Given the description of an element on the screen output the (x, y) to click on. 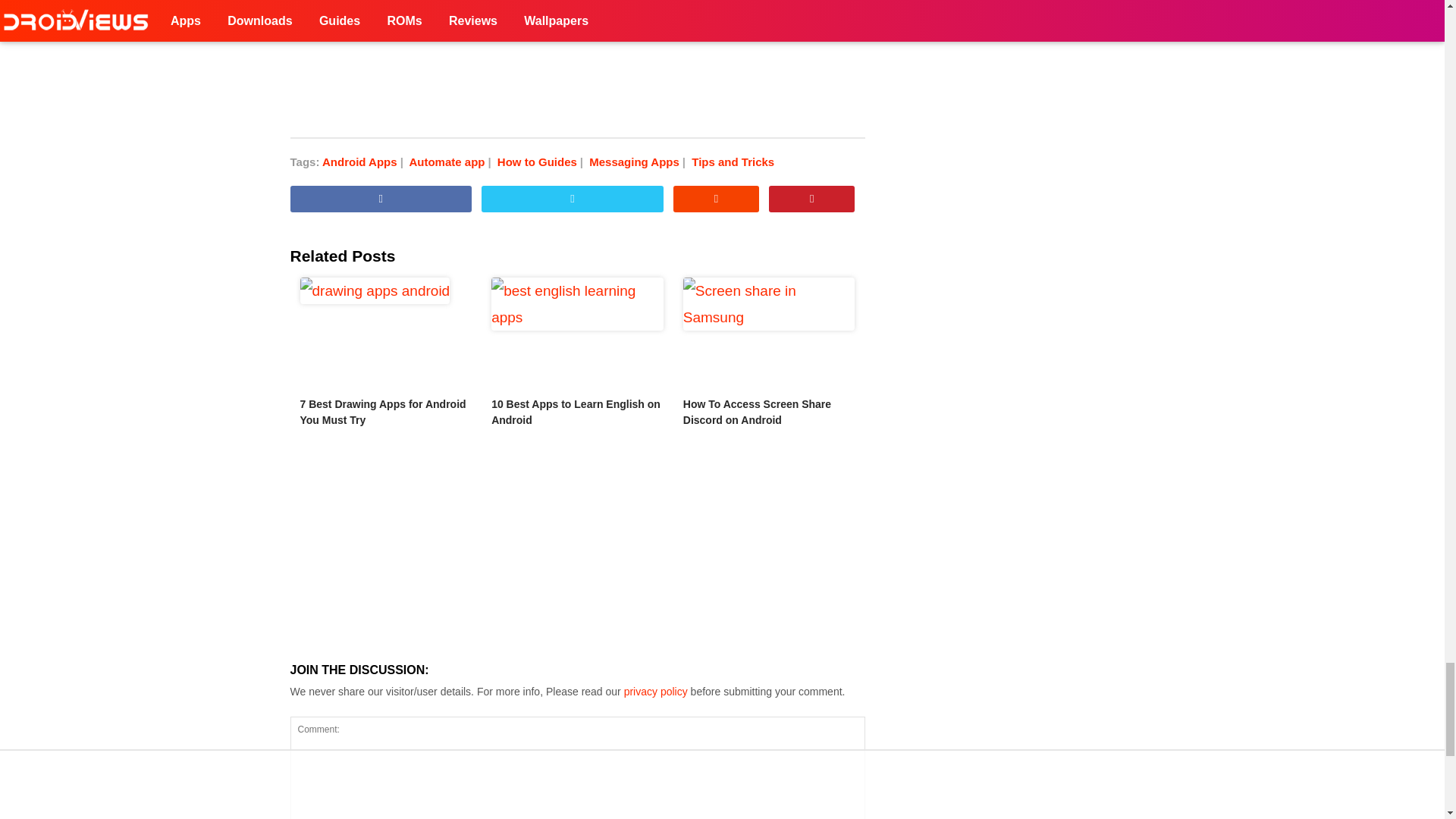
Messaging Apps (638, 161)
7 Best Drawing Apps for Android You Must Try (385, 334)
Automate app (451, 161)
Android Apps (363, 161)
How To Access Screen Share Discord on Android (769, 334)
10 Best Apps to Learn English on Android (577, 334)
Tips and Tricks (732, 161)
How to Guides (541, 161)
comment-policy-title (655, 691)
